Given the description of an element on the screen output the (x, y) to click on. 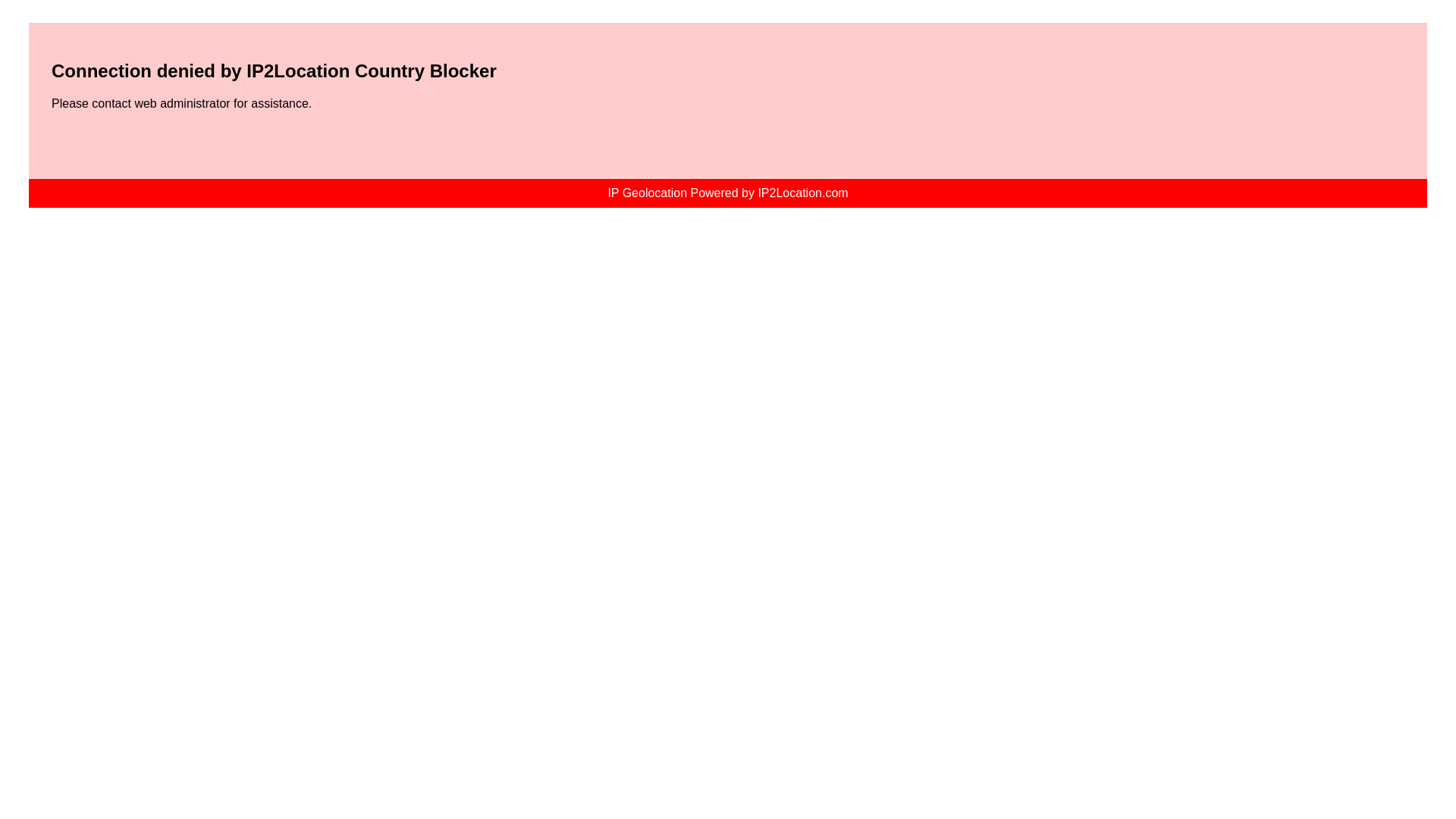
IP Geolocation Powered by IP2Location.com Element type: text (727, 192)
